Given the description of an element on the screen output the (x, y) to click on. 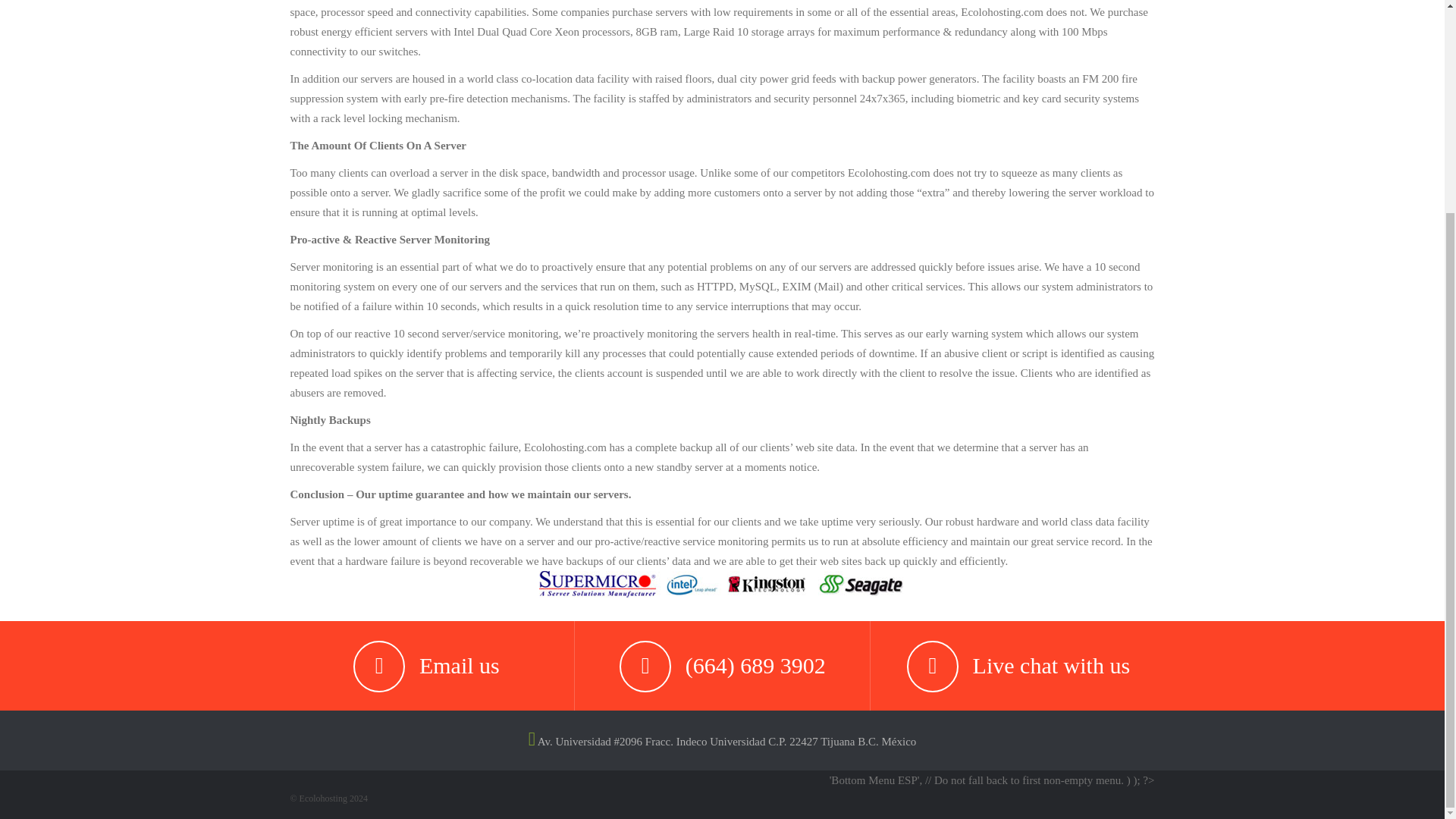
Live chat with us (1050, 665)
Email us (459, 665)
